Given the description of an element on the screen output the (x, y) to click on. 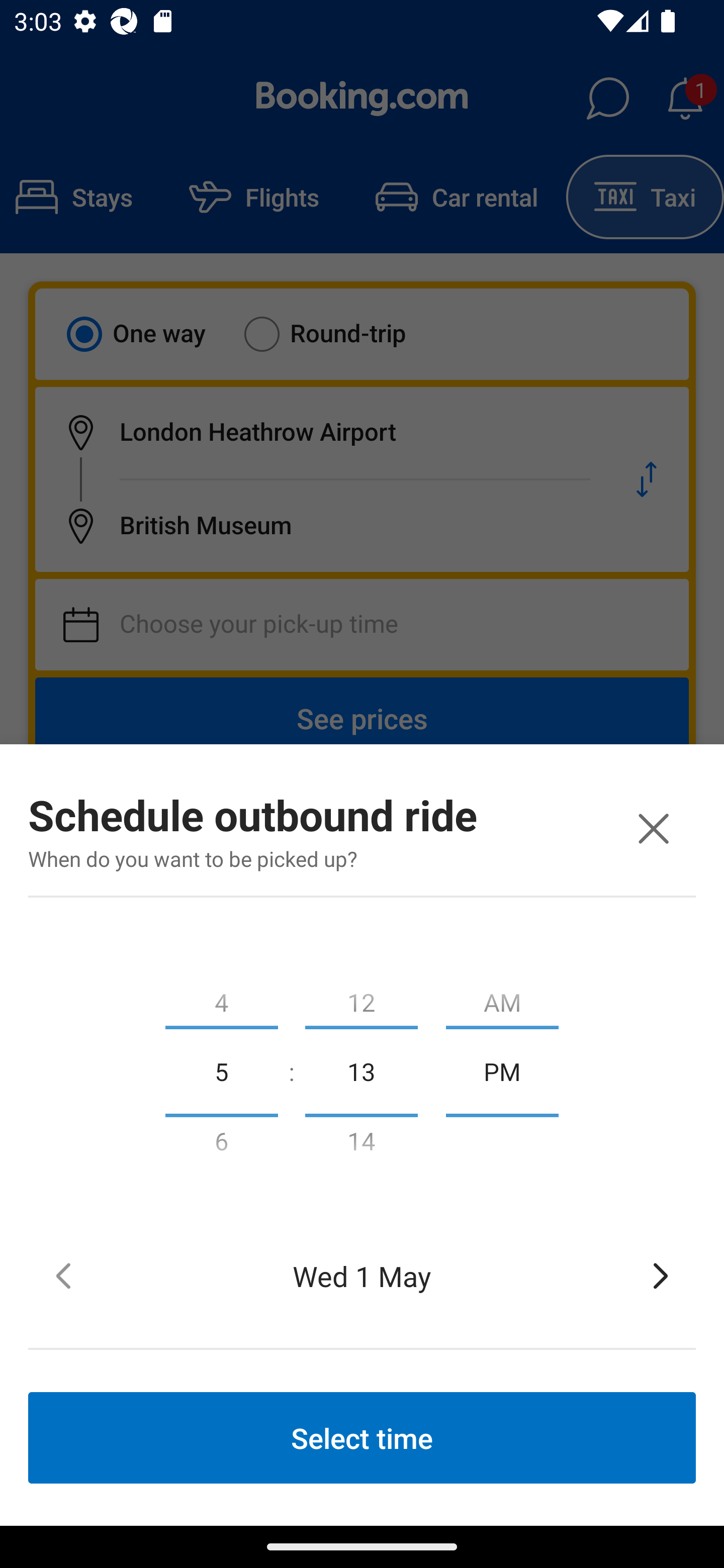
Close window (653, 828)
4 (221, 997)
12 (361, 997)
AM (501, 997)
5 (221, 1070)
13 (361, 1070)
PM (501, 1070)
6 (221, 1144)
14 (361, 1144)
Tap to move back to the previous date (63, 1275)
Tap to move forward to the next date (660, 1275)
Wed 1 May Selected date, Wednesday, 1 May (361, 1275)
Select time (361, 1437)
